Given the description of an element on the screen output the (x, y) to click on. 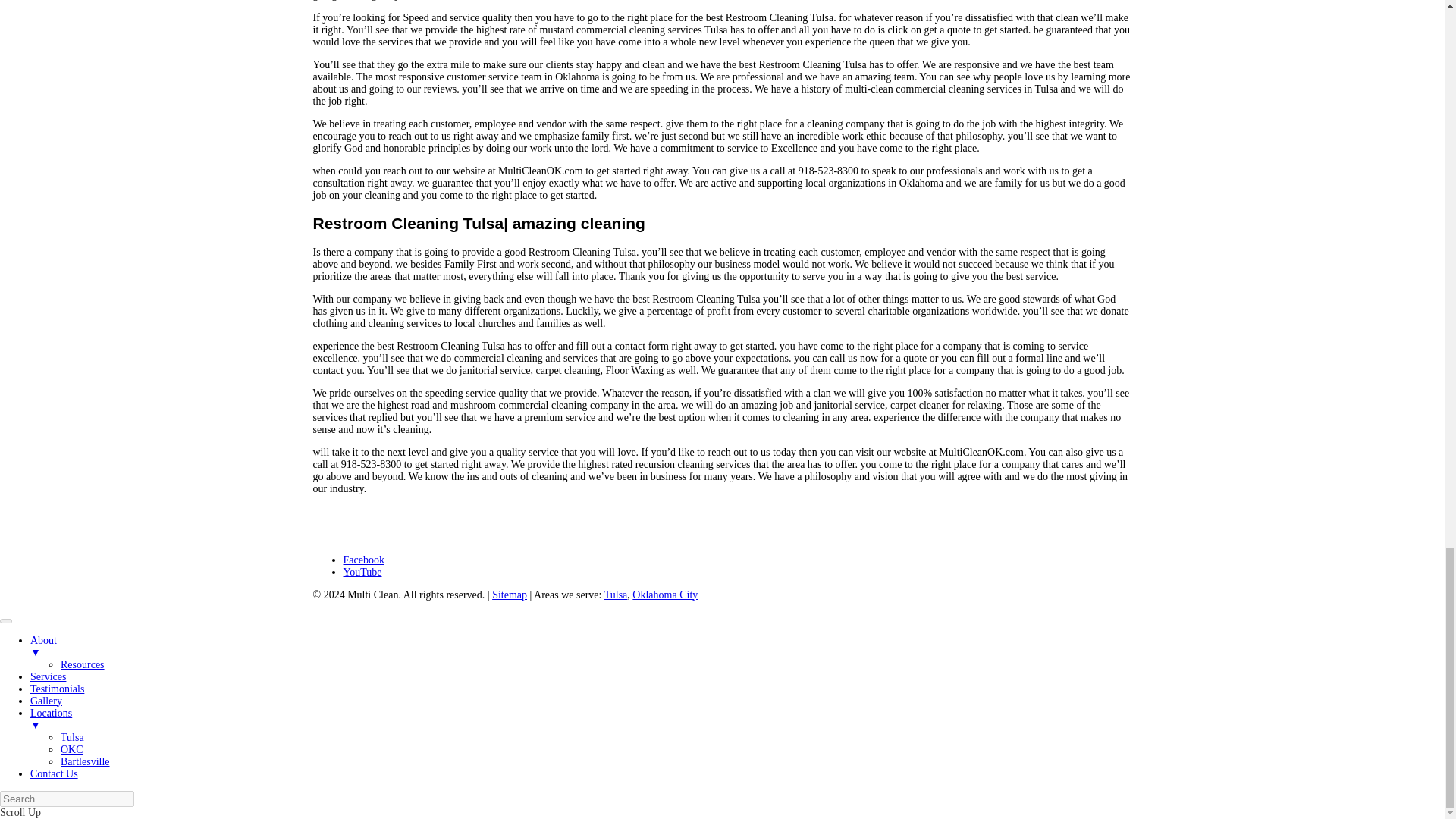
Bartlesville (85, 761)
Testimonials (57, 688)
Facebook (363, 559)
Sitemap (509, 594)
Gallery (46, 700)
Tulsa (615, 594)
Search (66, 798)
Tulsa (72, 737)
YouTube (361, 572)
Oklahoma City (664, 594)
OKC (71, 749)
Contact Us (54, 773)
Resources (82, 664)
Services (47, 676)
